Given the description of an element on the screen output the (x, y) to click on. 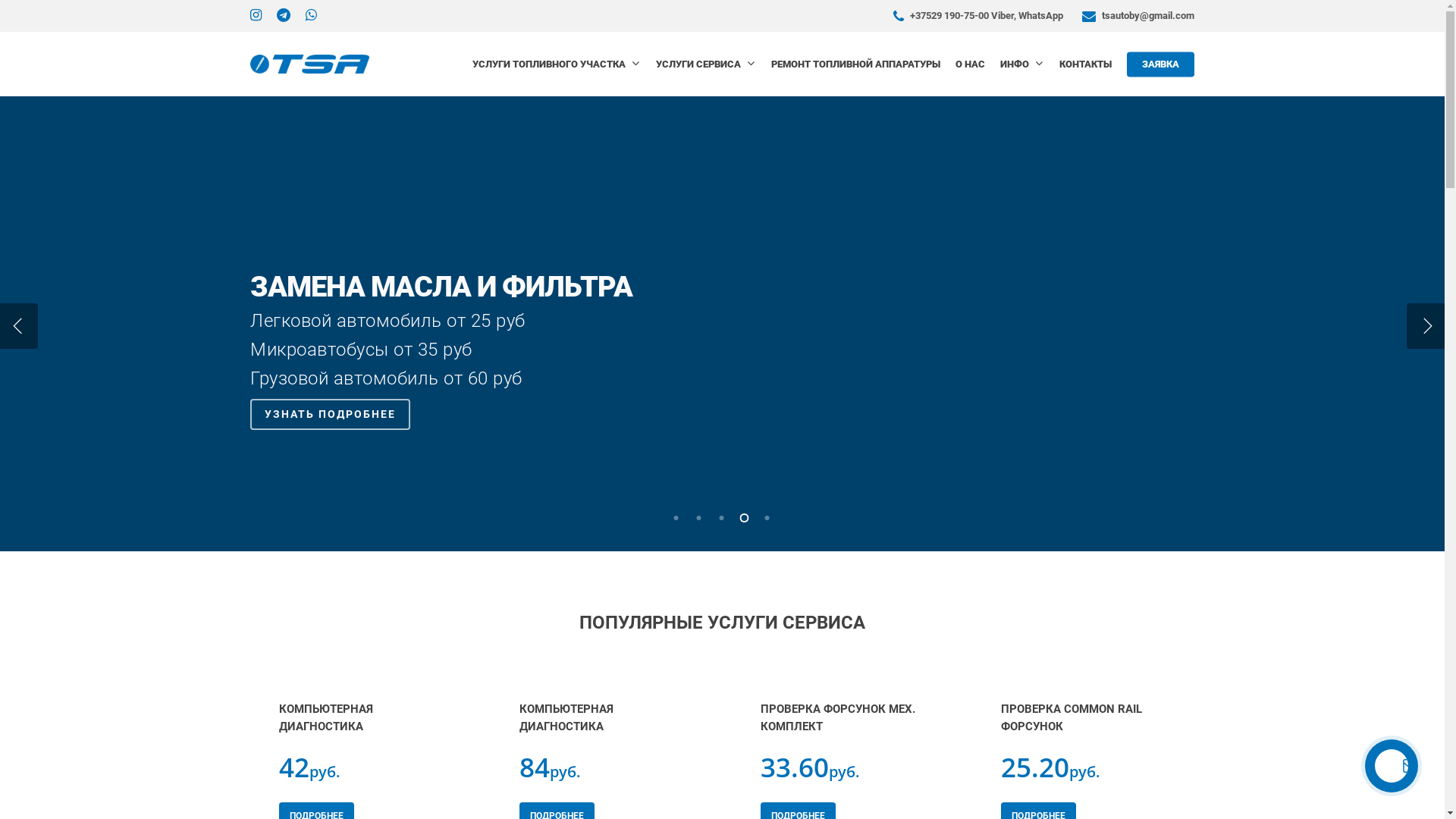
tsautoby@gmail.com Element type: text (1136, 15)
+37529 190-75-00 Viber, WhatsApp Element type: text (976, 15)
